Given the description of an element on the screen output the (x, y) to click on. 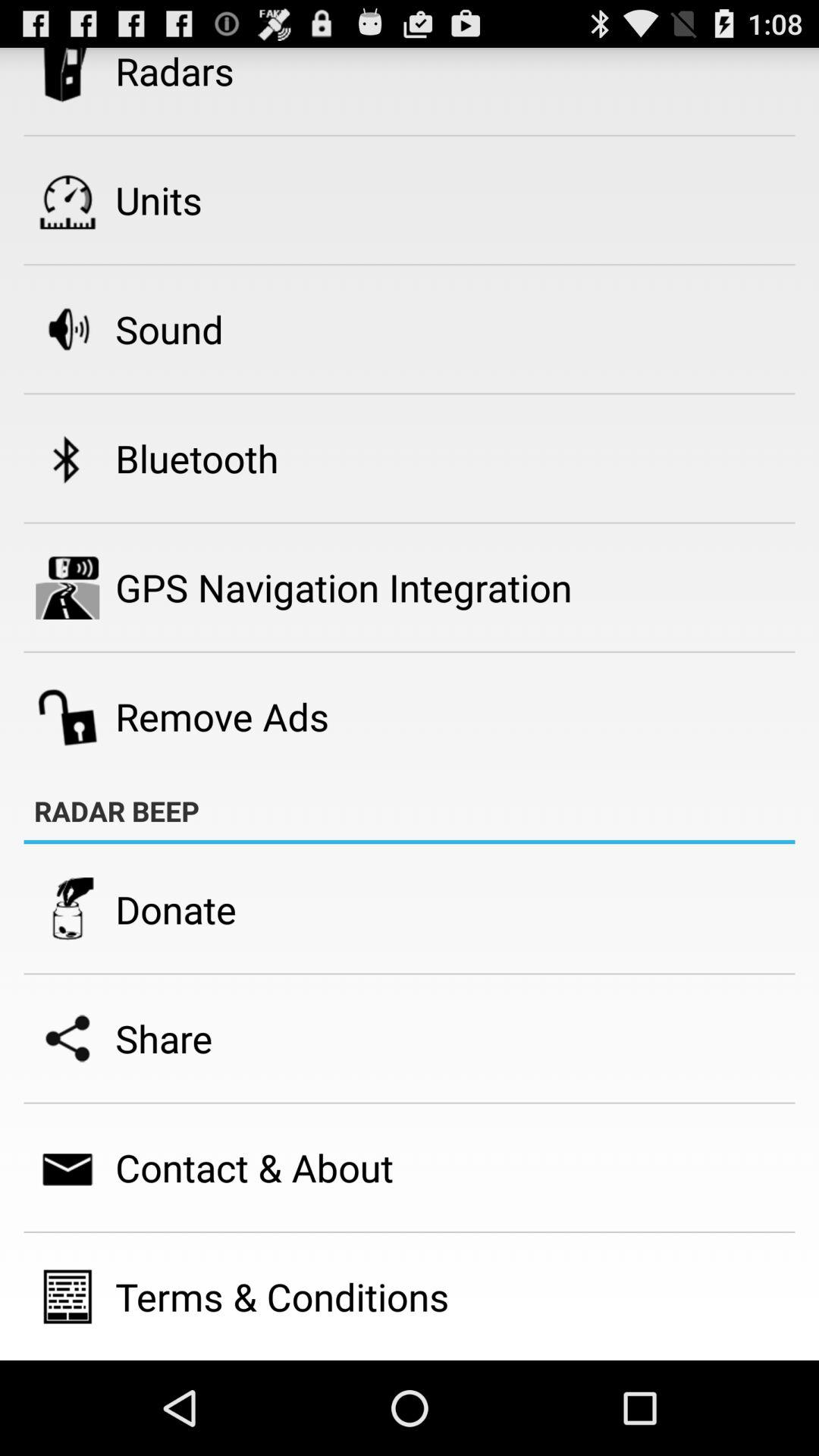
scroll until remove ads app (222, 716)
